Given the description of an element on the screen output the (x, y) to click on. 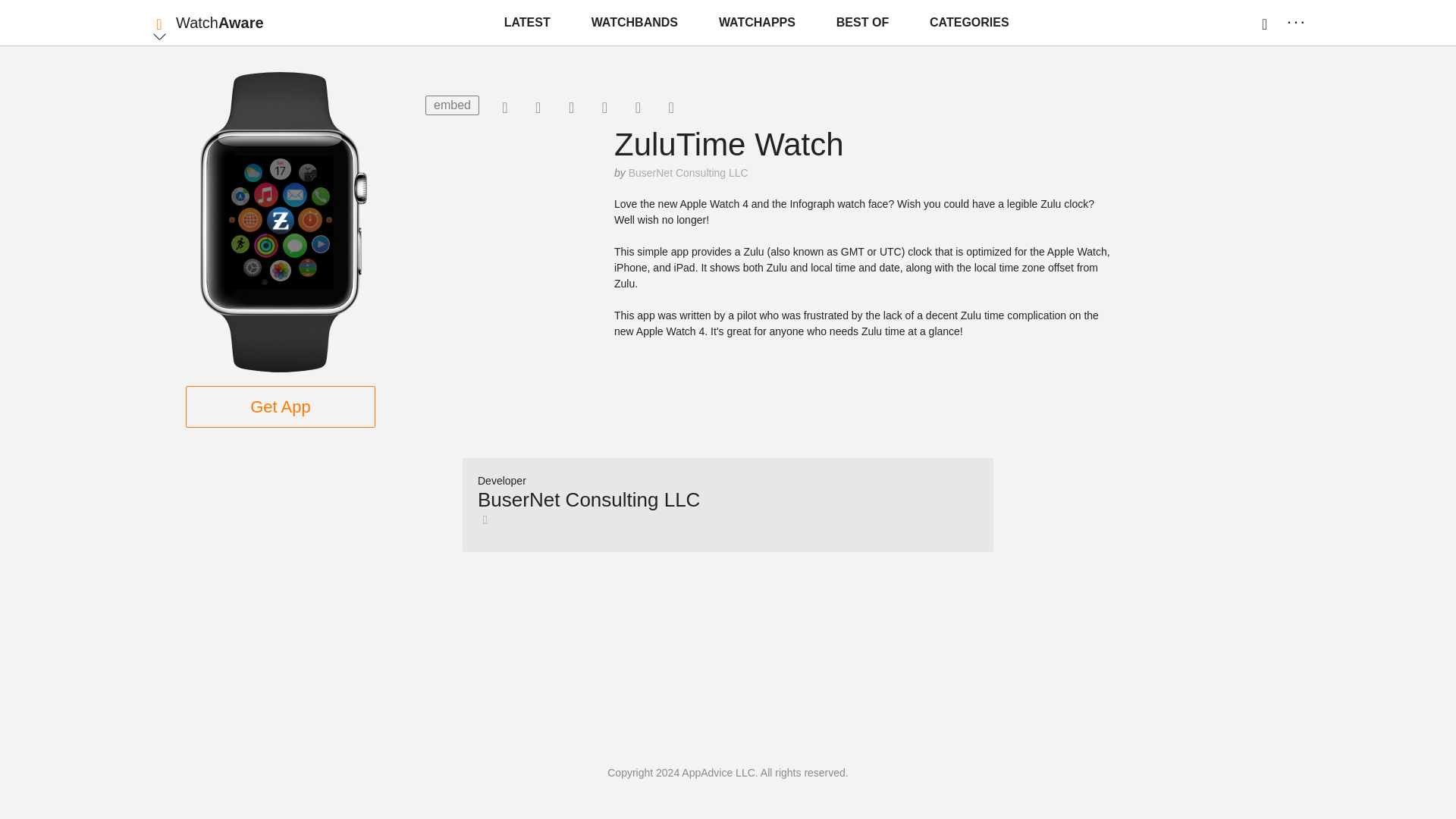
WATCHBANDS (634, 22)
CATEGORIES (968, 22)
WatchAware (219, 22)
LATEST (526, 22)
embed (452, 105)
WATCHAPPS (756, 22)
BEST OF (862, 22)
